Given the description of an element on the screen output the (x, y) to click on. 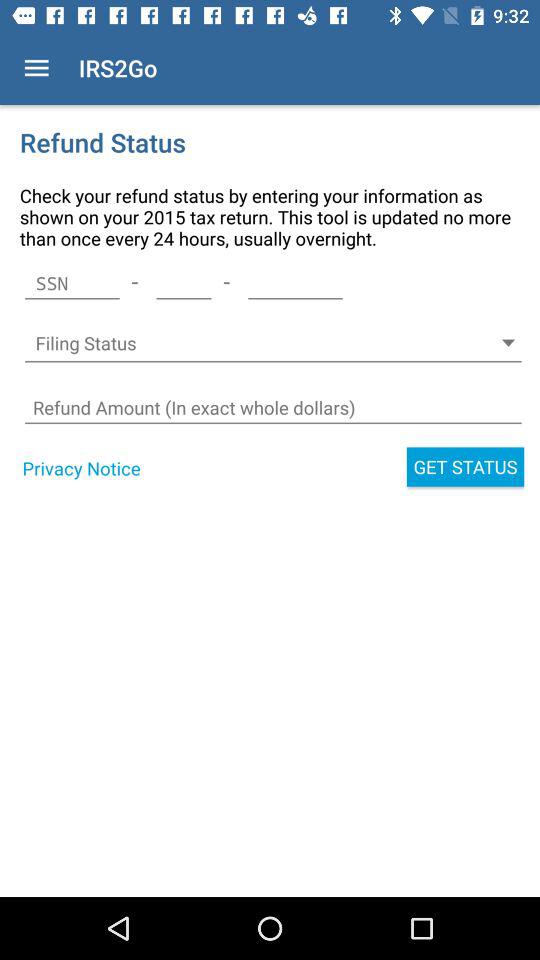
turn off the privacy notice icon (81, 467)
